Given the description of an element on the screen output the (x, y) to click on. 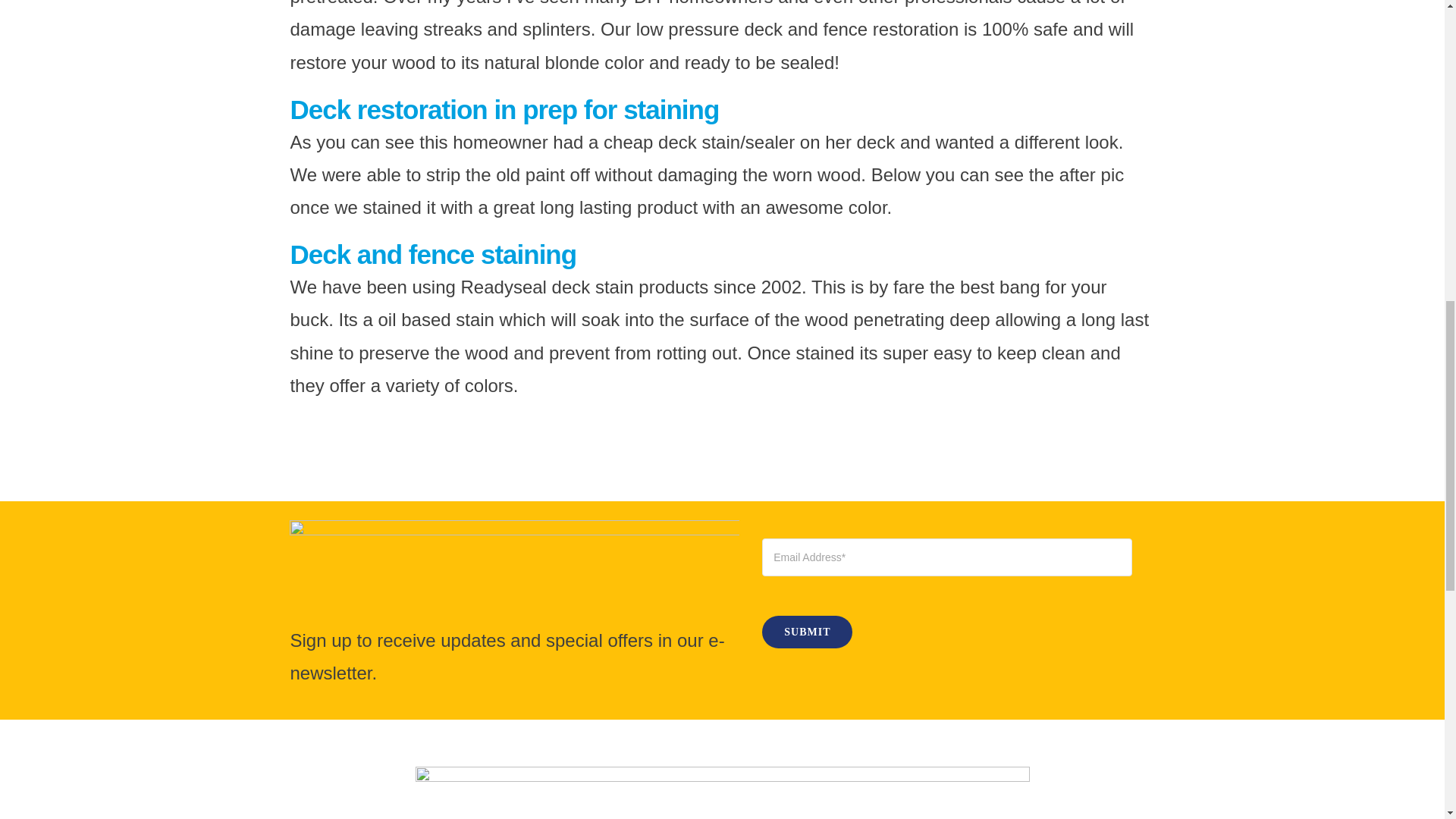
Guarantee (721, 792)
E-News (514, 572)
SUBMIT (946, 593)
